Given the description of an element on the screen output the (x, y) to click on. 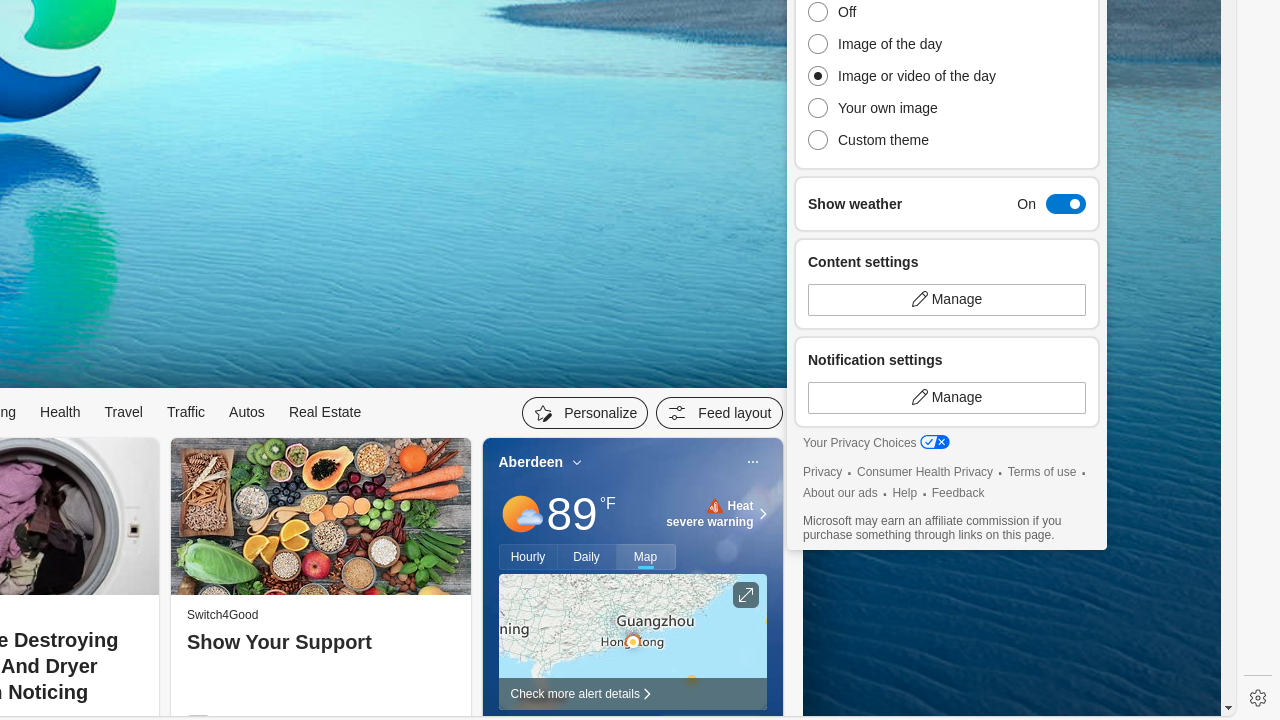
Help Element type: link (905, 493)
Your Privacy Choices Element type: link (876, 444)
About our ads Element type: link (840, 493)
89°F Element type: link (581, 514)
Hourly Element type: list-item (528, 557)
